Given the description of an element on the screen output the (x, y) to click on. 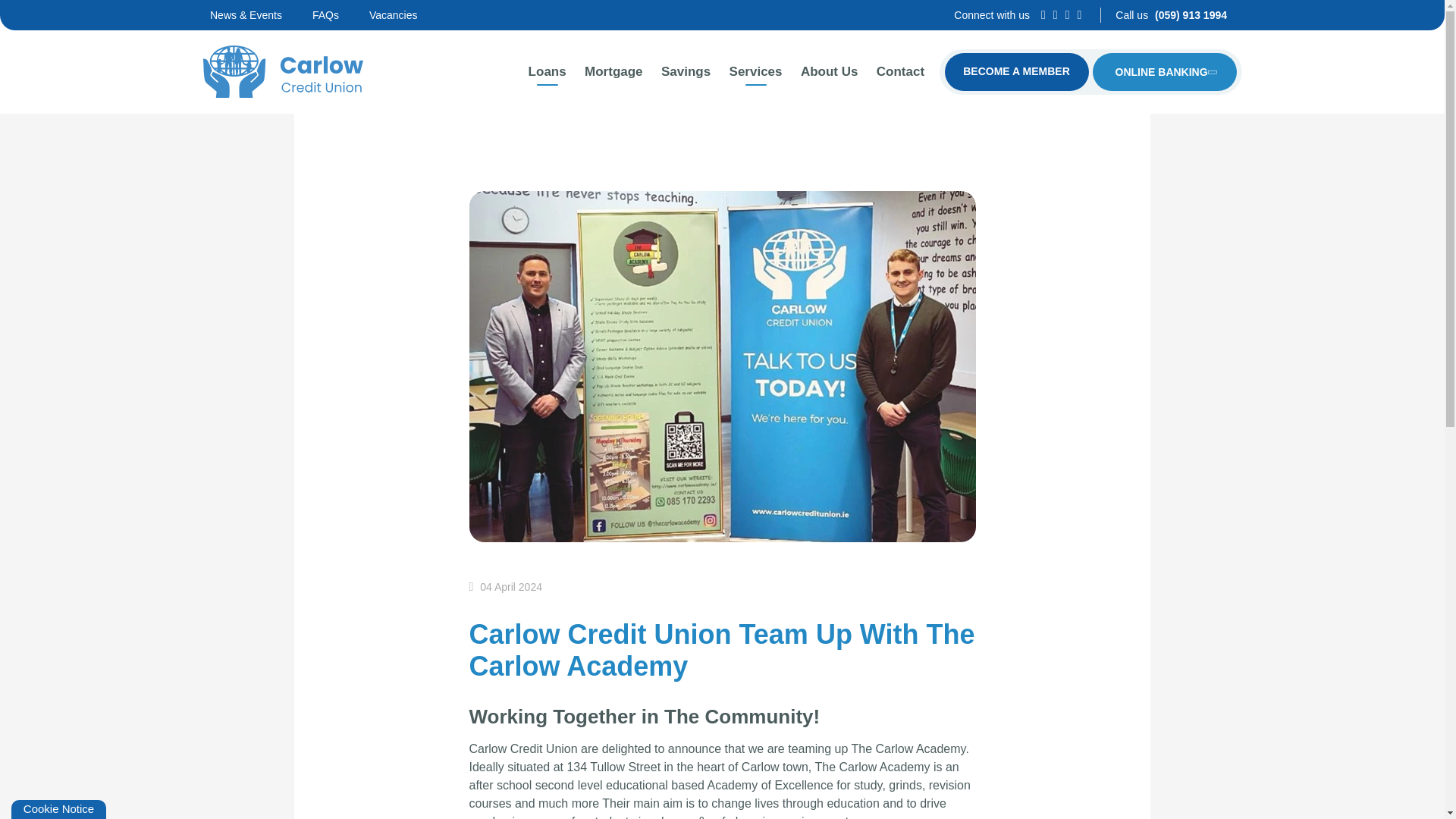
FAQs (341, 15)
Vacancies (408, 15)
BECOME A MEMBER (1016, 71)
